Given the description of an element on the screen output the (x, y) to click on. 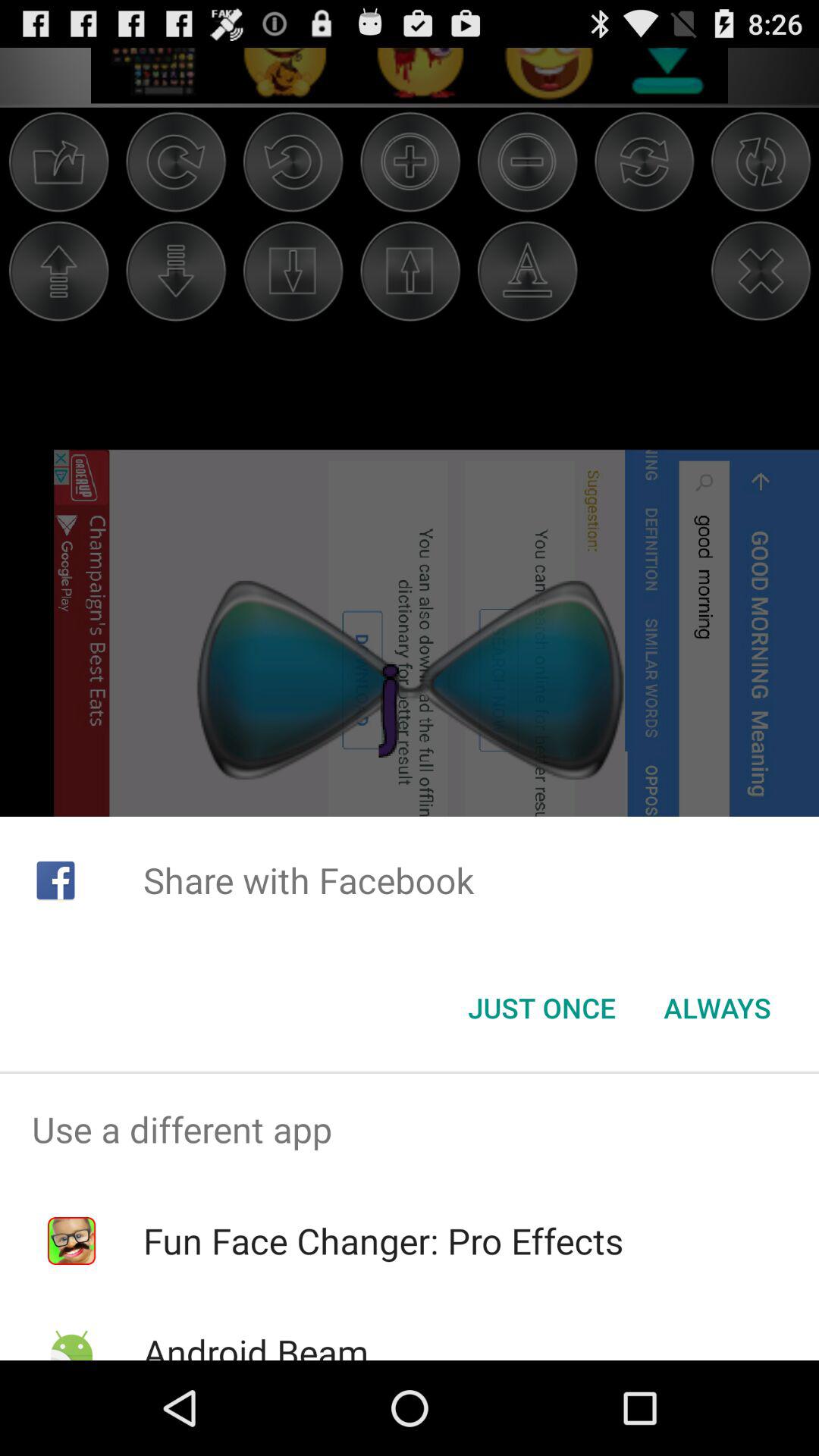
click the app below the share with facebook (717, 1007)
